Given the description of an element on the screen output the (x, y) to click on. 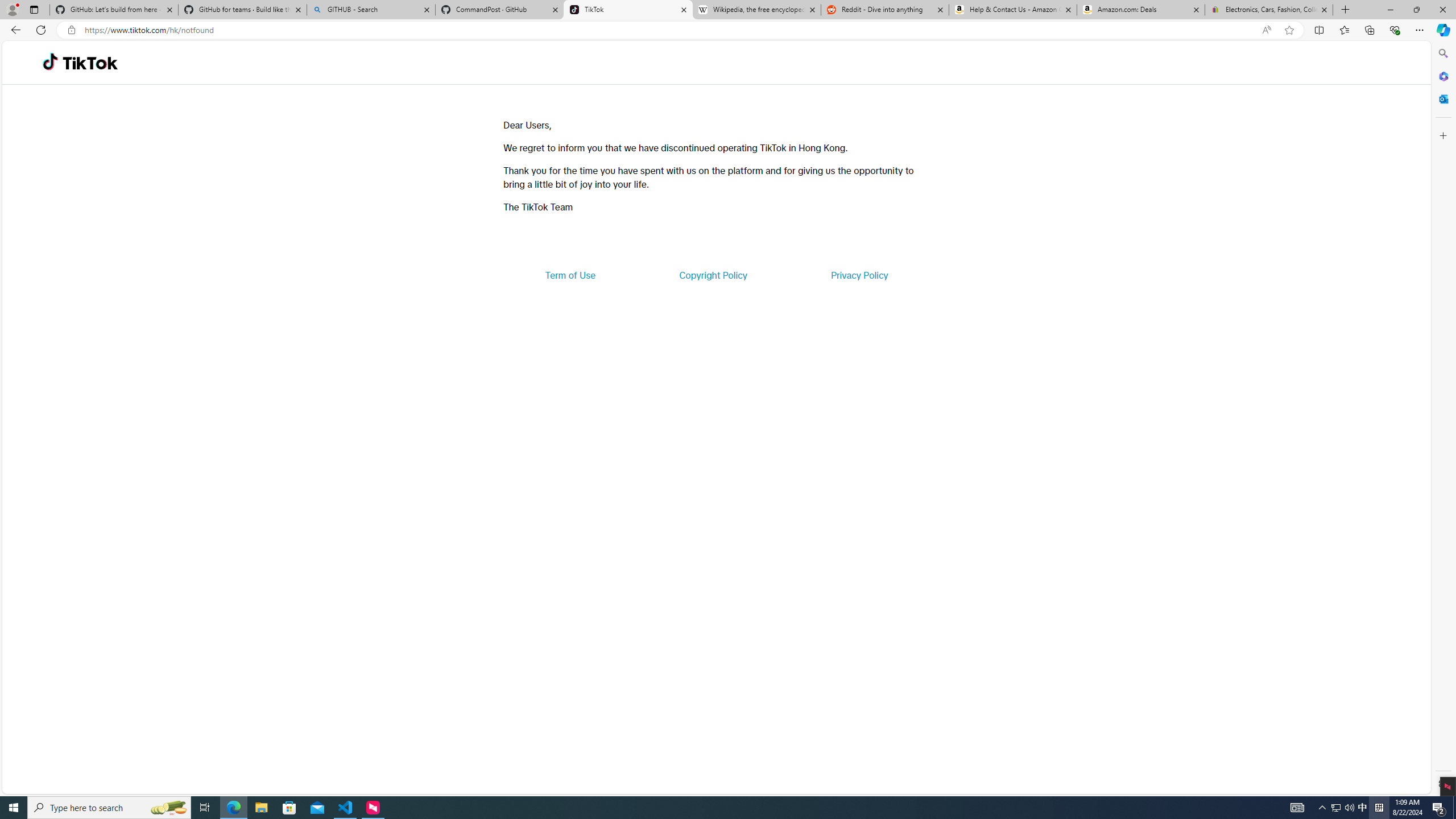
TikTok (628, 9)
